Given the description of an element on the screen output the (x, y) to click on. 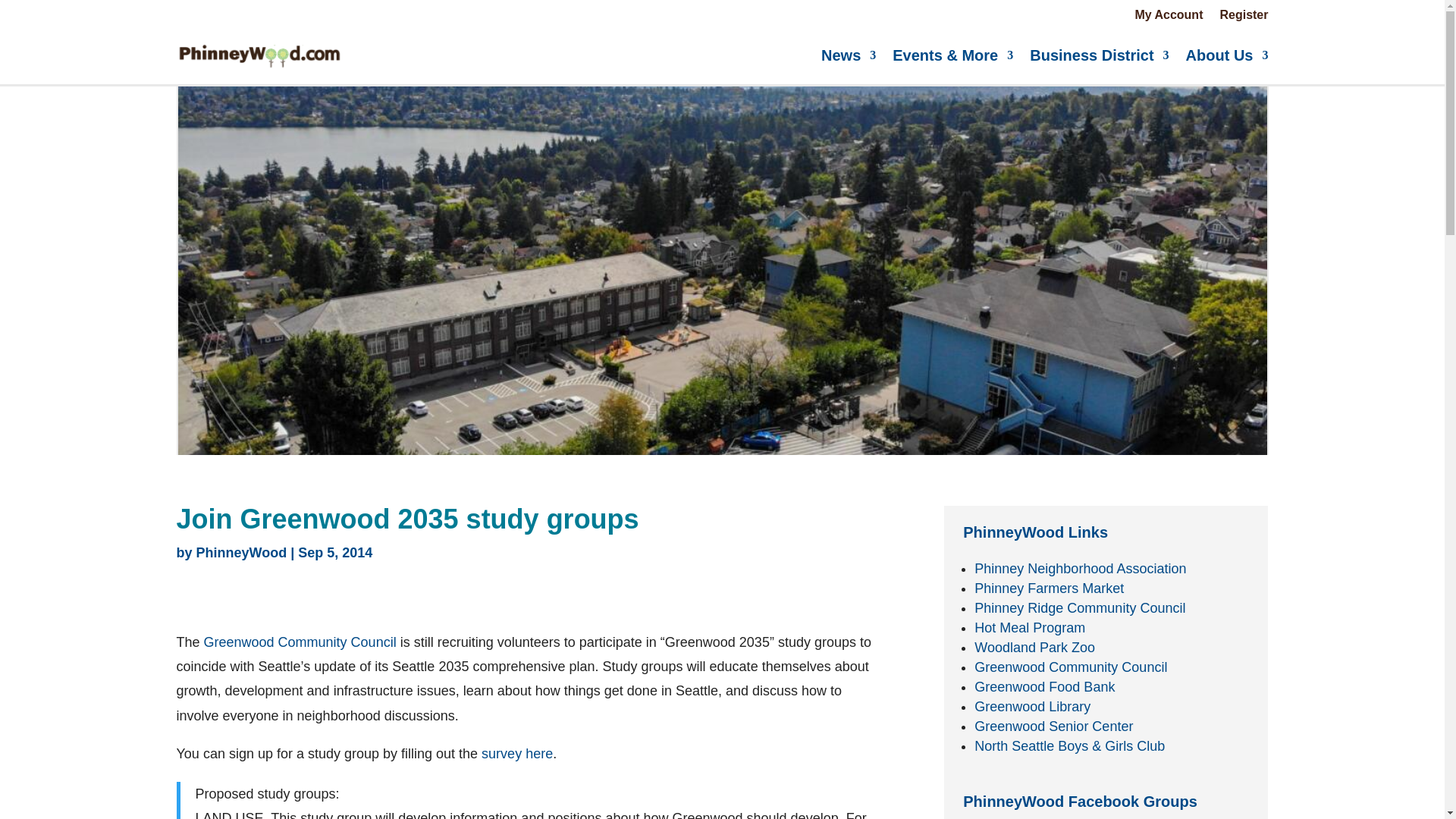
About Us (1227, 55)
Register (1244, 17)
My Account (1168, 17)
Business District (1099, 55)
News (848, 55)
Posts by PhinneyWood (241, 552)
